Given the description of an element on the screen output the (x, y) to click on. 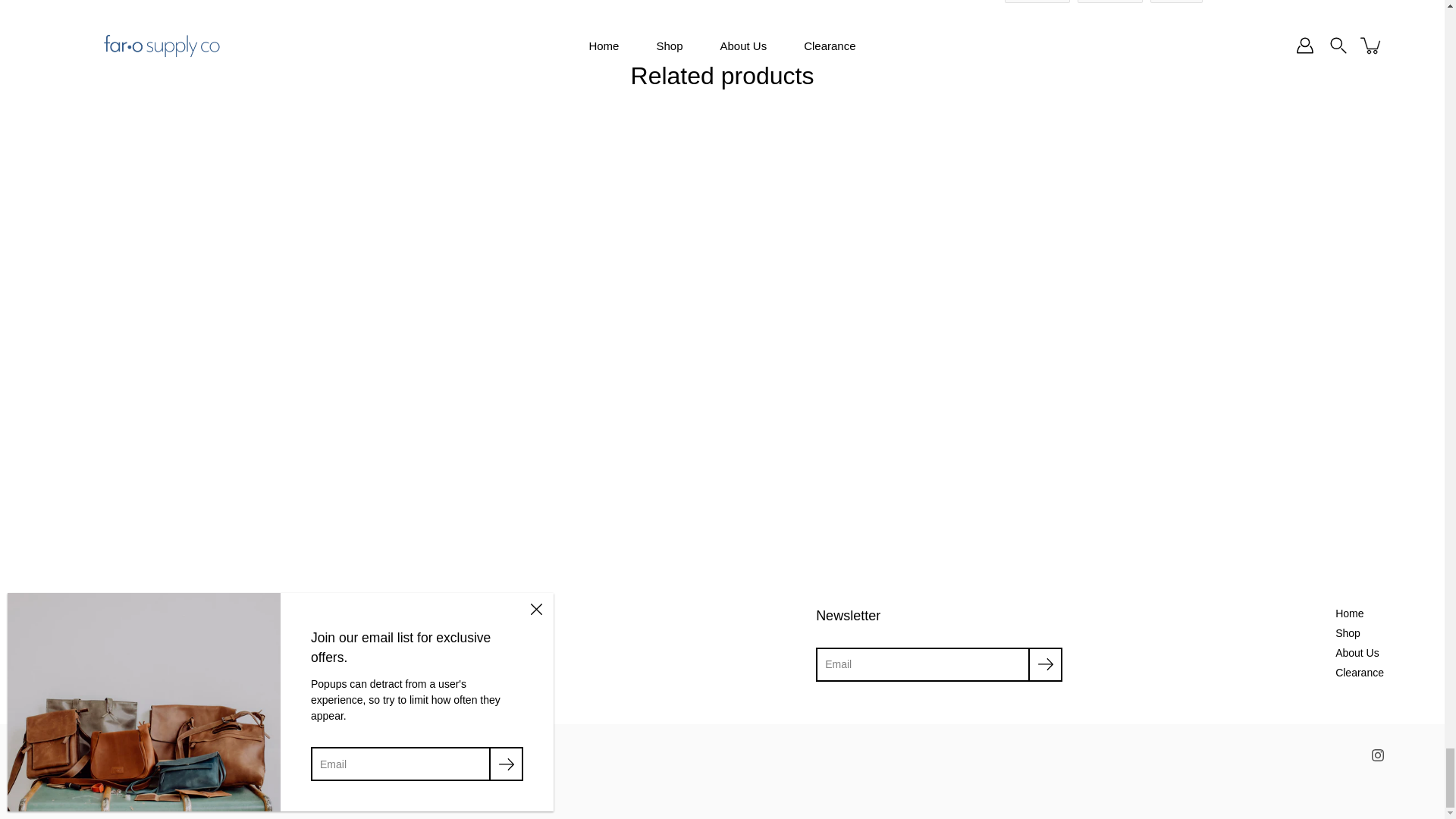
Google Pay (207, 758)
Diners Club (141, 758)
Mastercard (241, 758)
Discover (174, 758)
American Express (74, 758)
Shop Pay (274, 758)
Apple Pay (108, 758)
Visa (307, 758)
